Given the description of an element on the screen output the (x, y) to click on. 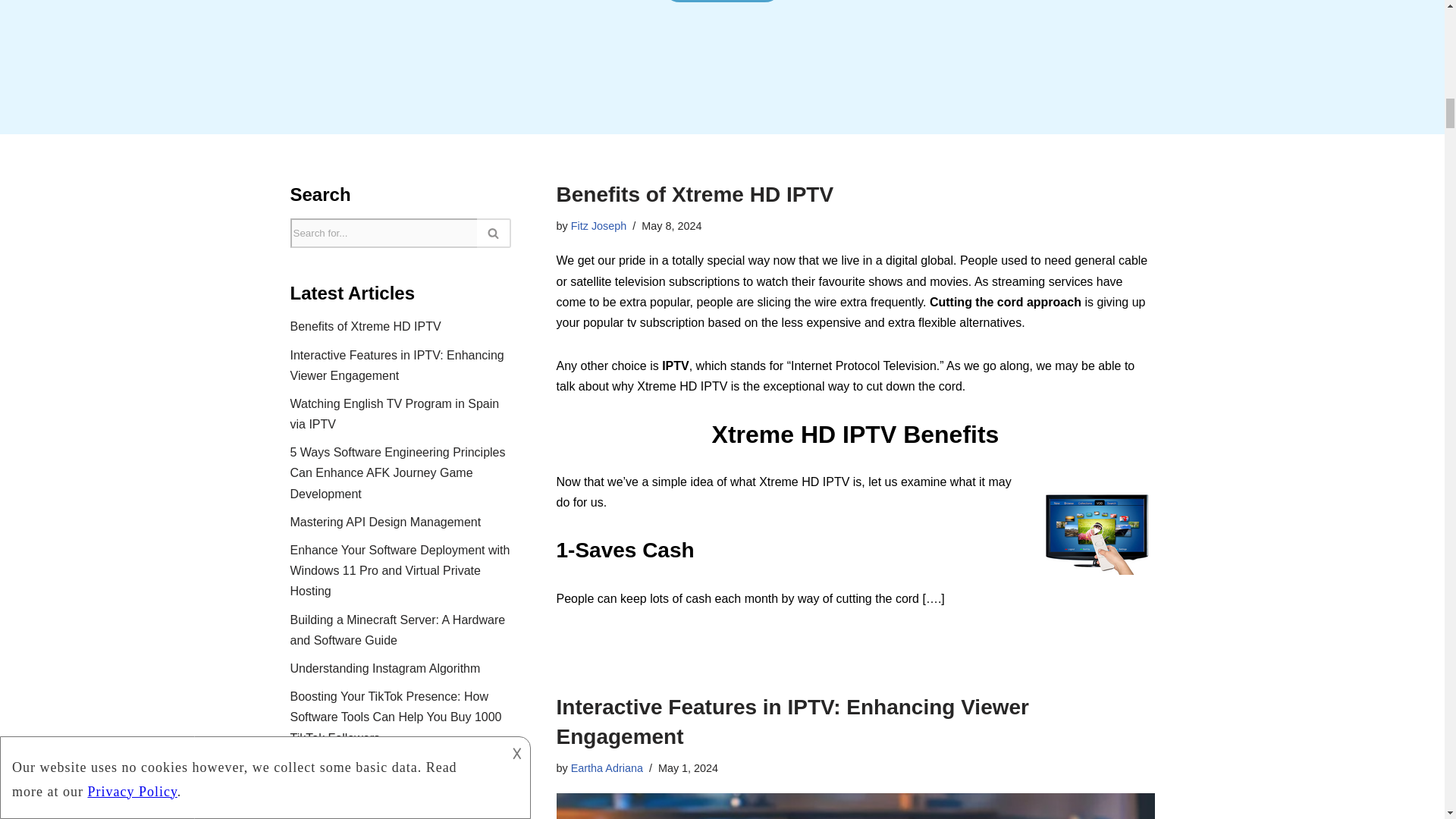
Posts by Eartha Adriana (606, 767)
Posts by Fitz Joseph (598, 225)
READ MORE (722, 1)
